Given the description of an element on the screen output the (x, y) to click on. 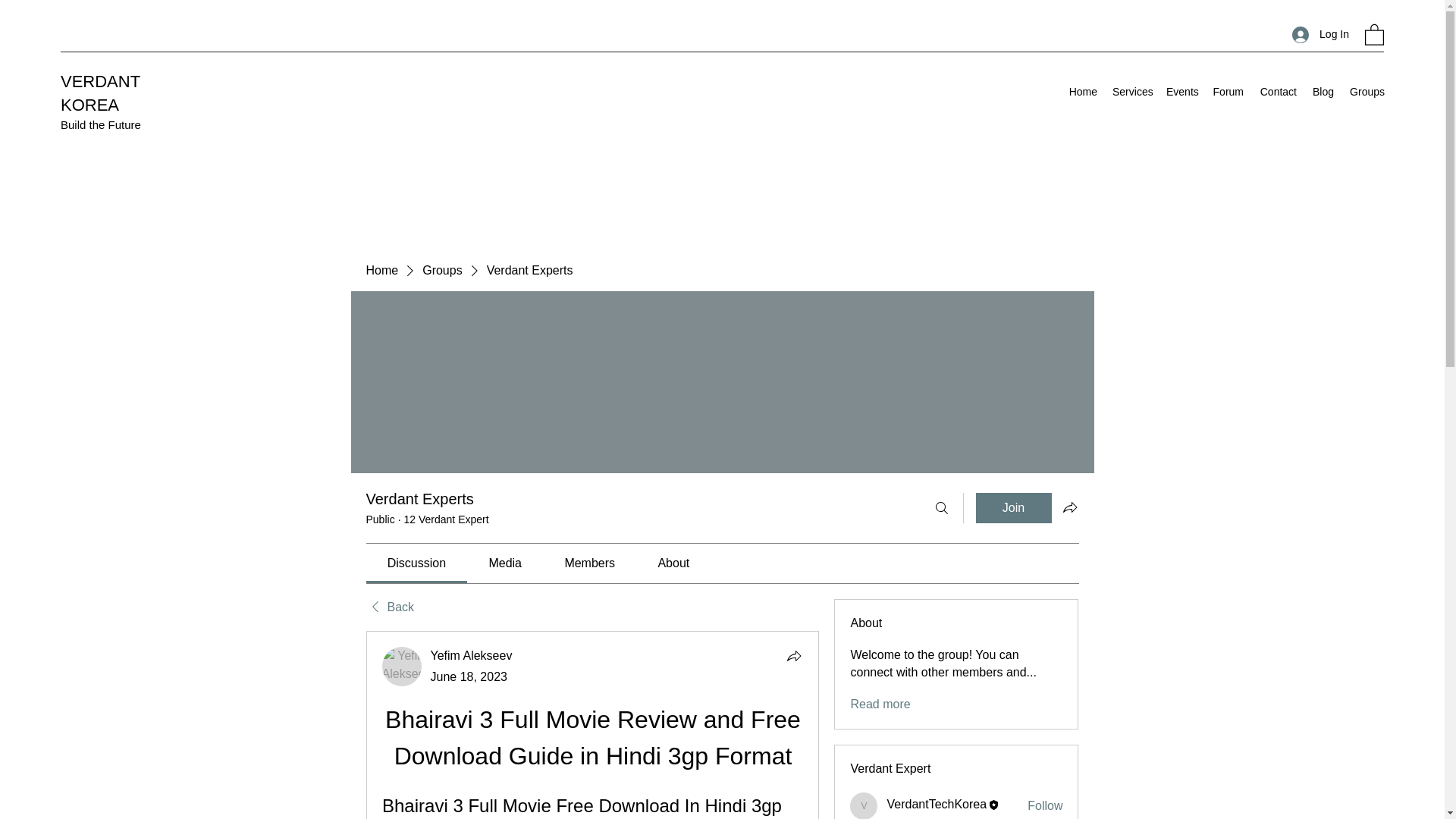
Forum (1227, 91)
June 18, 2023 (468, 676)
VerdantTechKorea (936, 804)
Yefim Alekseev (401, 666)
VerdantTechKorea (936, 804)
Home (1083, 91)
Follow (1044, 805)
Log In (1320, 34)
Join (1013, 508)
Back (389, 606)
